Given the description of an element on the screen output the (x, y) to click on. 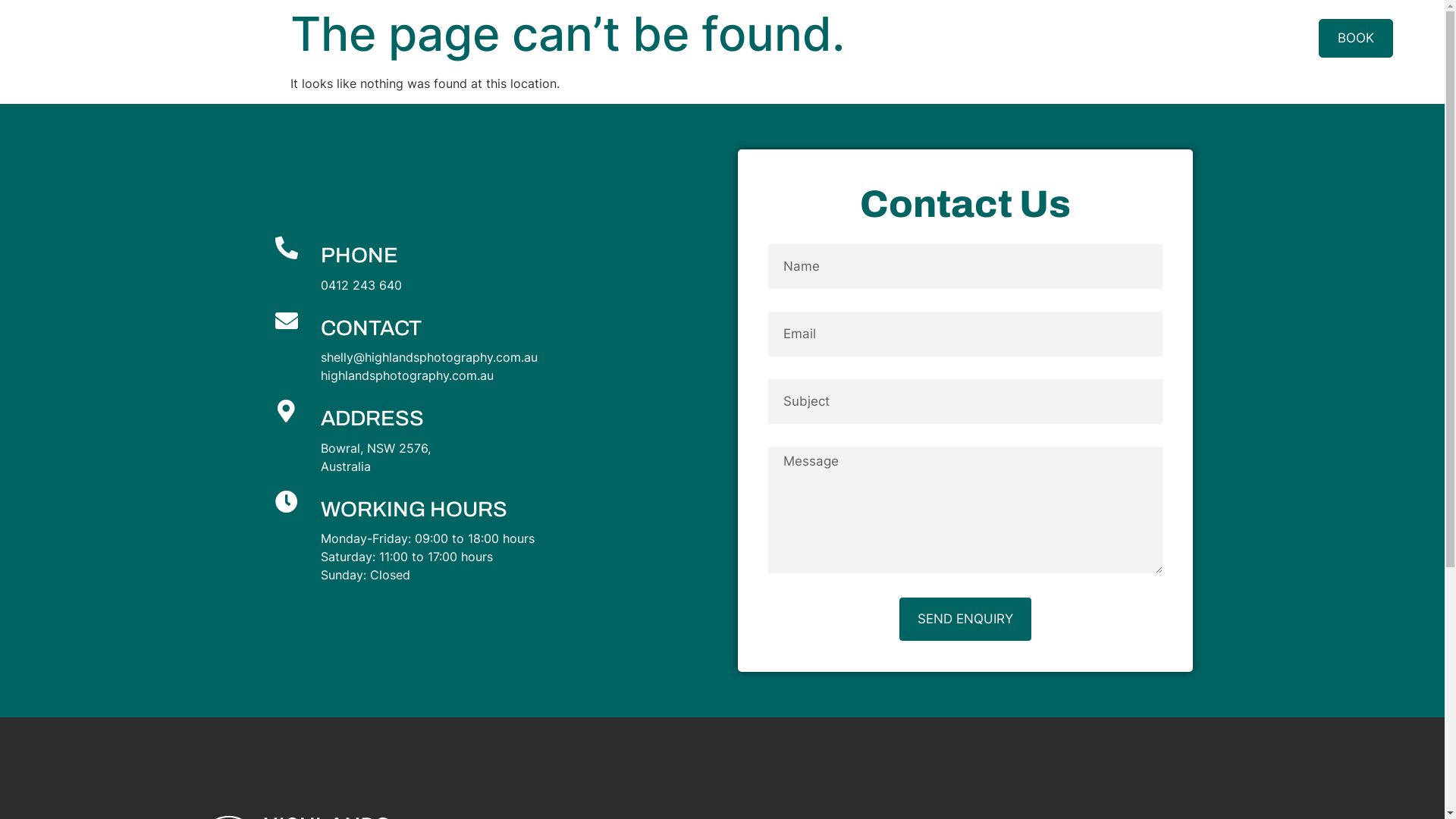
SEND ENQUIRY Element type: text (964, 618)
Home Element type: text (853, 37)
Contact Us Element type: text (1217, 37)
About Us Element type: text (935, 37)
Bookings Element type: text (1117, 37)
Services Element type: text (1026, 37)
BOOK Element type: text (1355, 37)
